Given the description of an element on the screen output the (x, y) to click on. 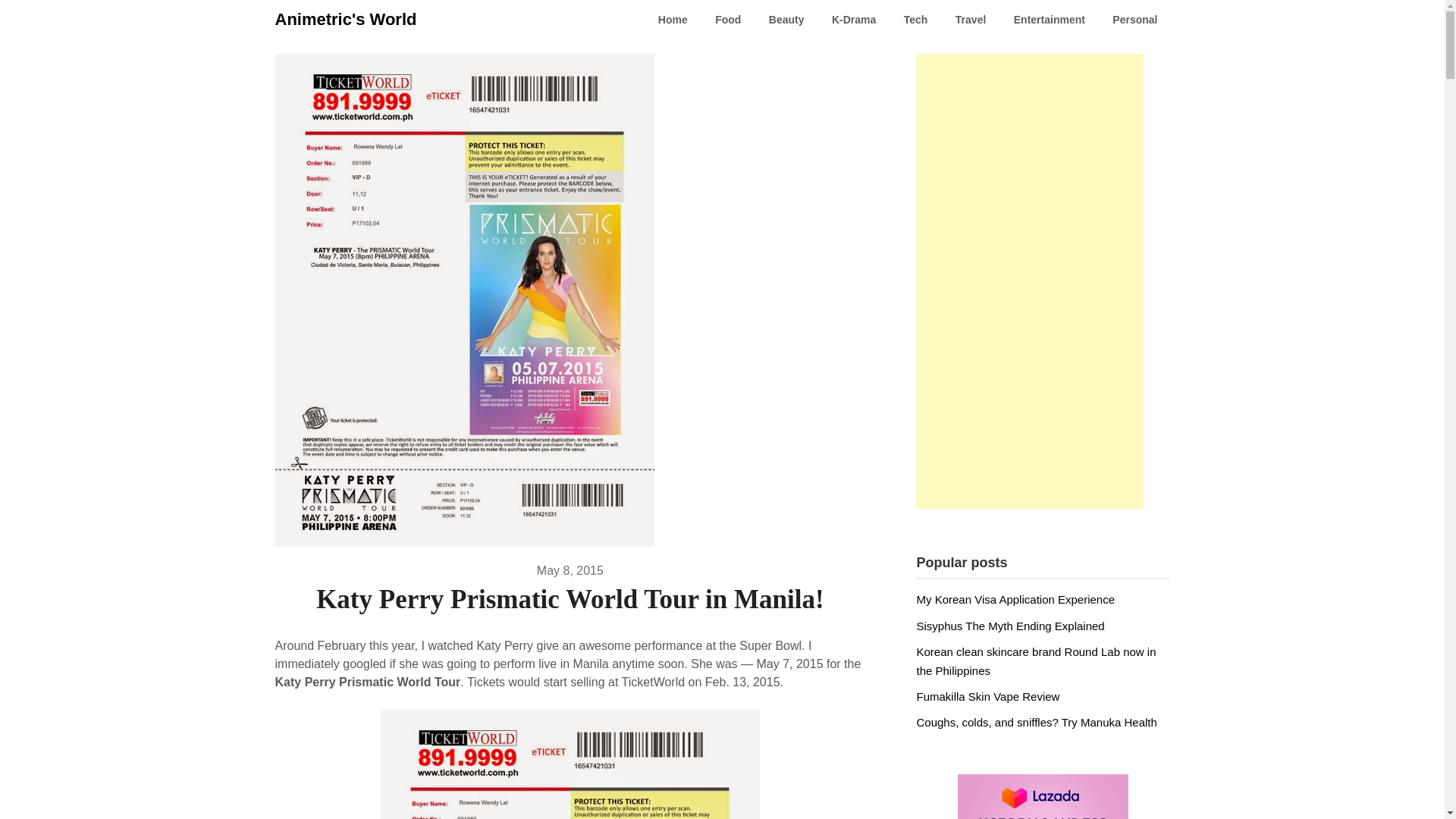
My Korean Visa Application Experience (1015, 599)
Tech (915, 20)
Animetric's World (345, 19)
Sisyphus The Myth Ending Explained (1009, 625)
Sisyphus The Myth Ending Explained (1009, 625)
Fumakilla Skin Vape Review (987, 696)
Entertainment (1049, 20)
Coughs, colds, and sniffles? Try Manuka Health (1035, 721)
Home (673, 20)
Food (727, 20)
Coughs, colds, and sniffles? Try Manuka Health (1035, 721)
My Korean Visa Application Experience (1015, 599)
Korean clean skincare brand Round Lab now in the Philippines (1035, 660)
Korean clean skincare brand Round Lab now in the Philippines (1035, 660)
Personal (1134, 20)
